Given the description of an element on the screen output the (x, y) to click on. 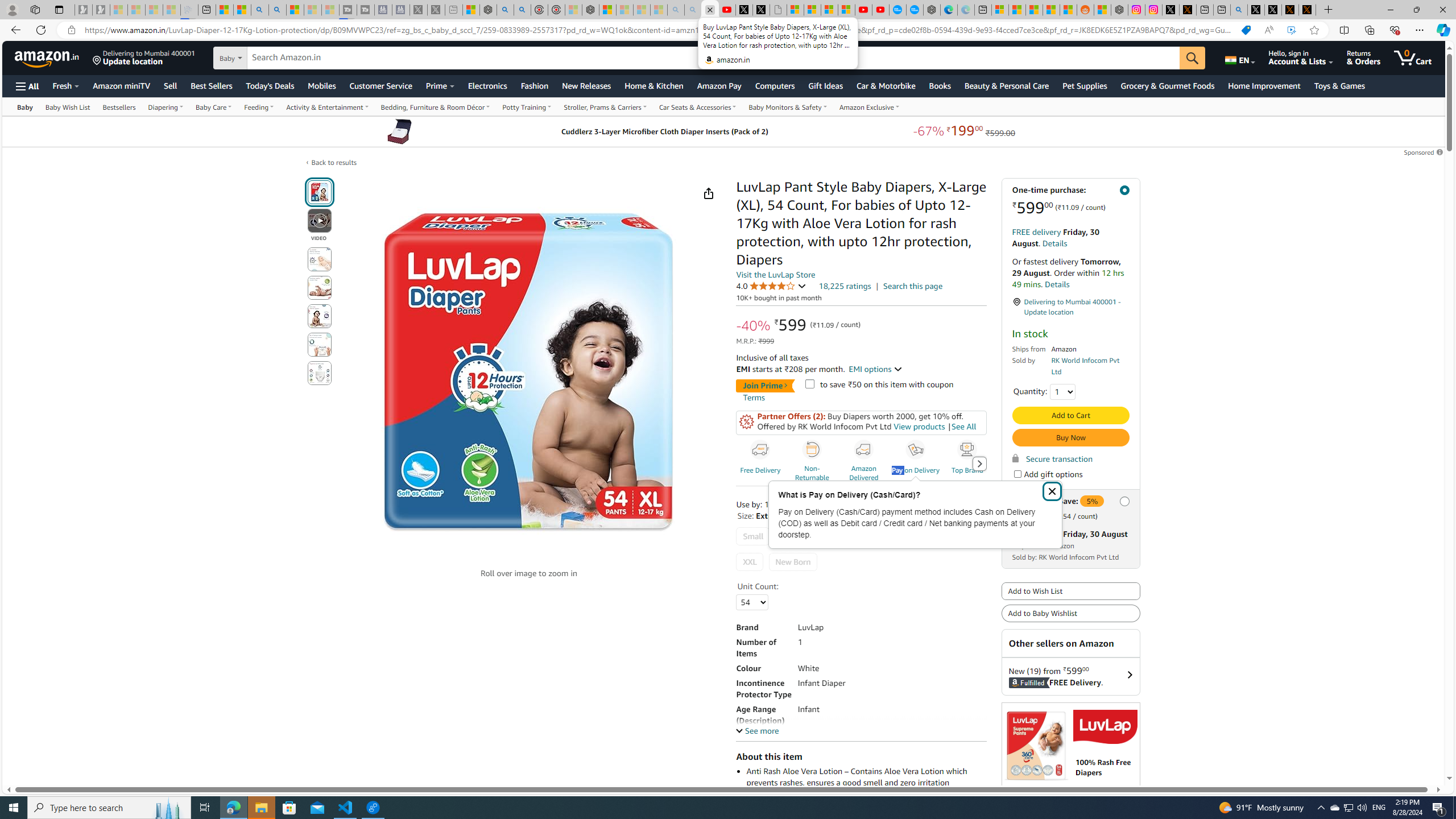
github - Search (1238, 9)
amazon - Search - Sleeping (675, 9)
App bar (728, 29)
